Given the description of an element on the screen output the (x, y) to click on. 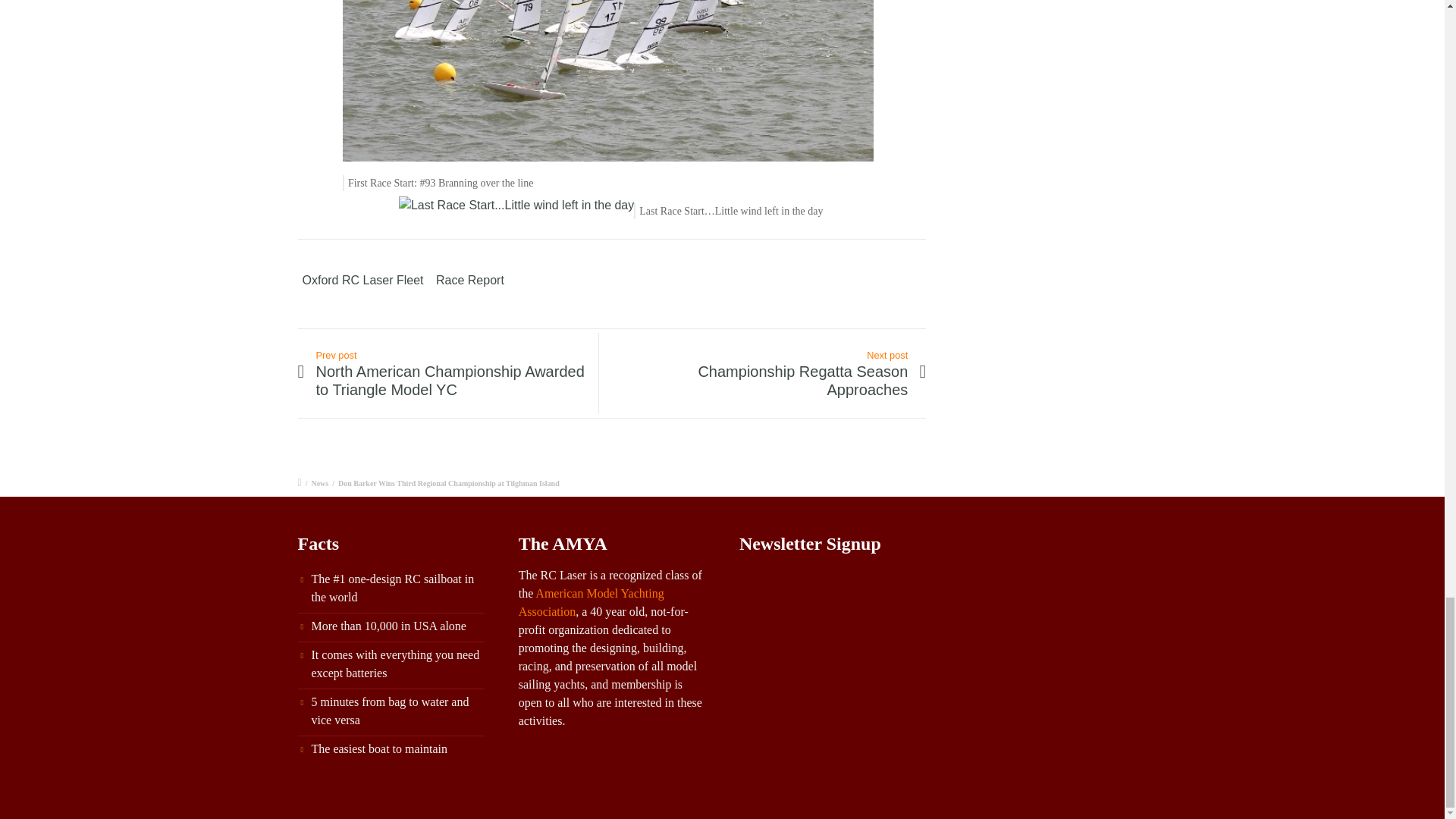
News (320, 483)
Oxford RC Laser Fleet (362, 280)
Championship Regatta Season Approaches (771, 380)
North American Championship Awarded to Triangle Model YC (450, 380)
American Model Yachting Association (590, 602)
Race Report (469, 280)
